Given the description of an element on the screen output the (x, y) to click on. 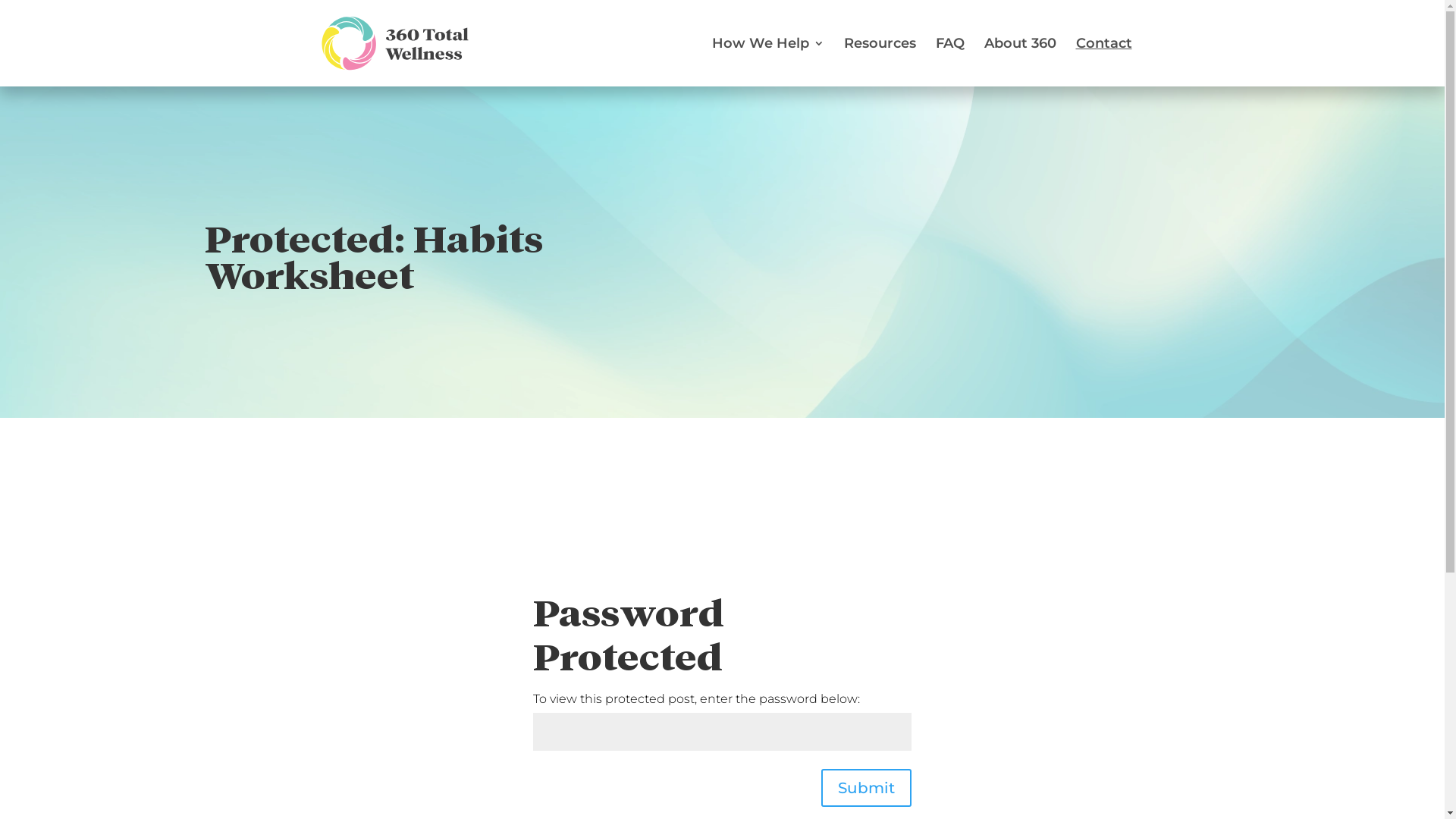
Resources Element type: text (879, 61)
Contact Element type: text (1103, 61)
How We Help Element type: text (767, 61)
FAQ Element type: text (949, 61)
Submit Element type: text (866, 787)
About 360 Element type: text (1020, 61)
